Given the description of an element on the screen output the (x, y) to click on. 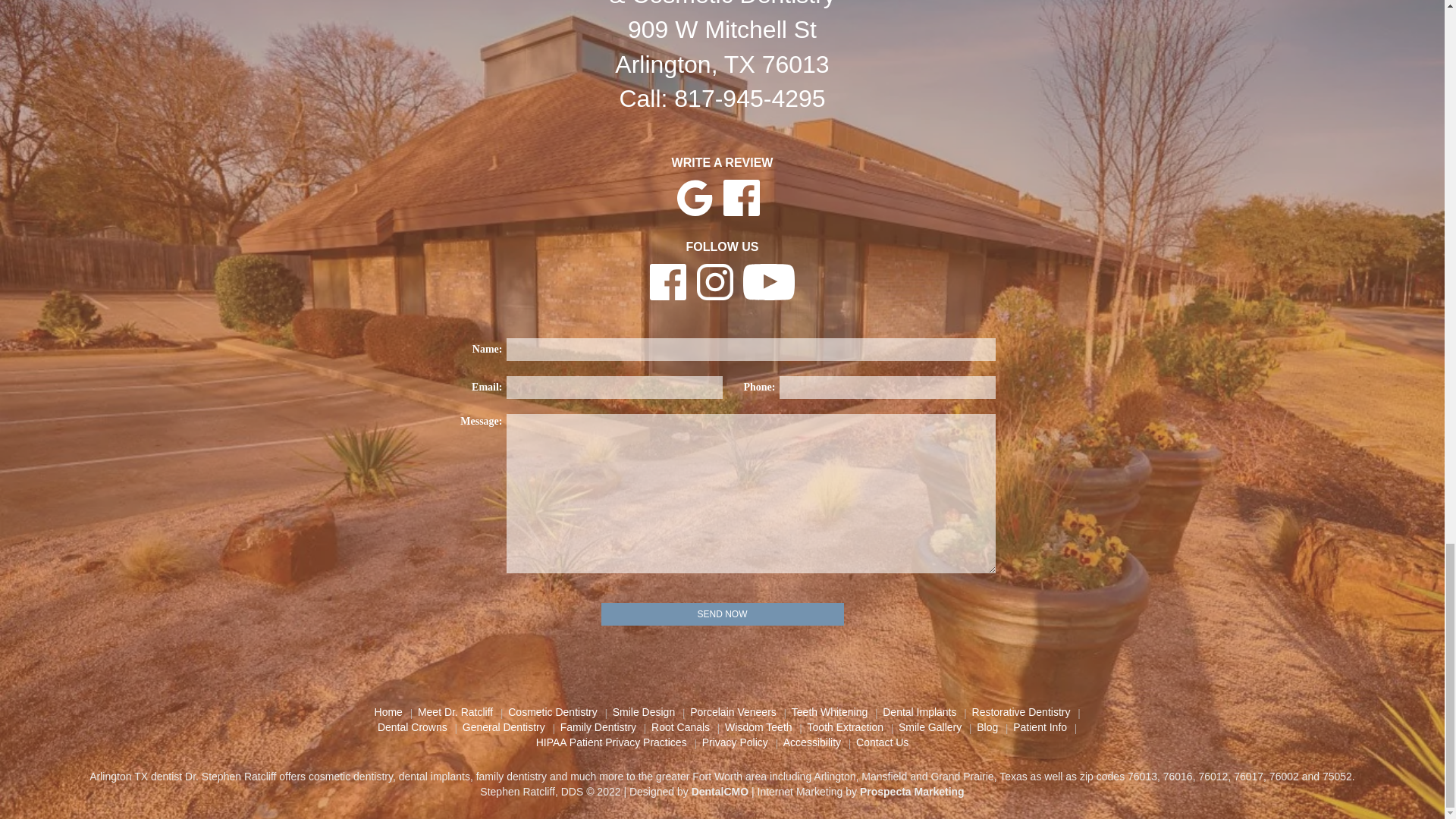
Send Now (721, 613)
